Given the description of an element on the screen output the (x, y) to click on. 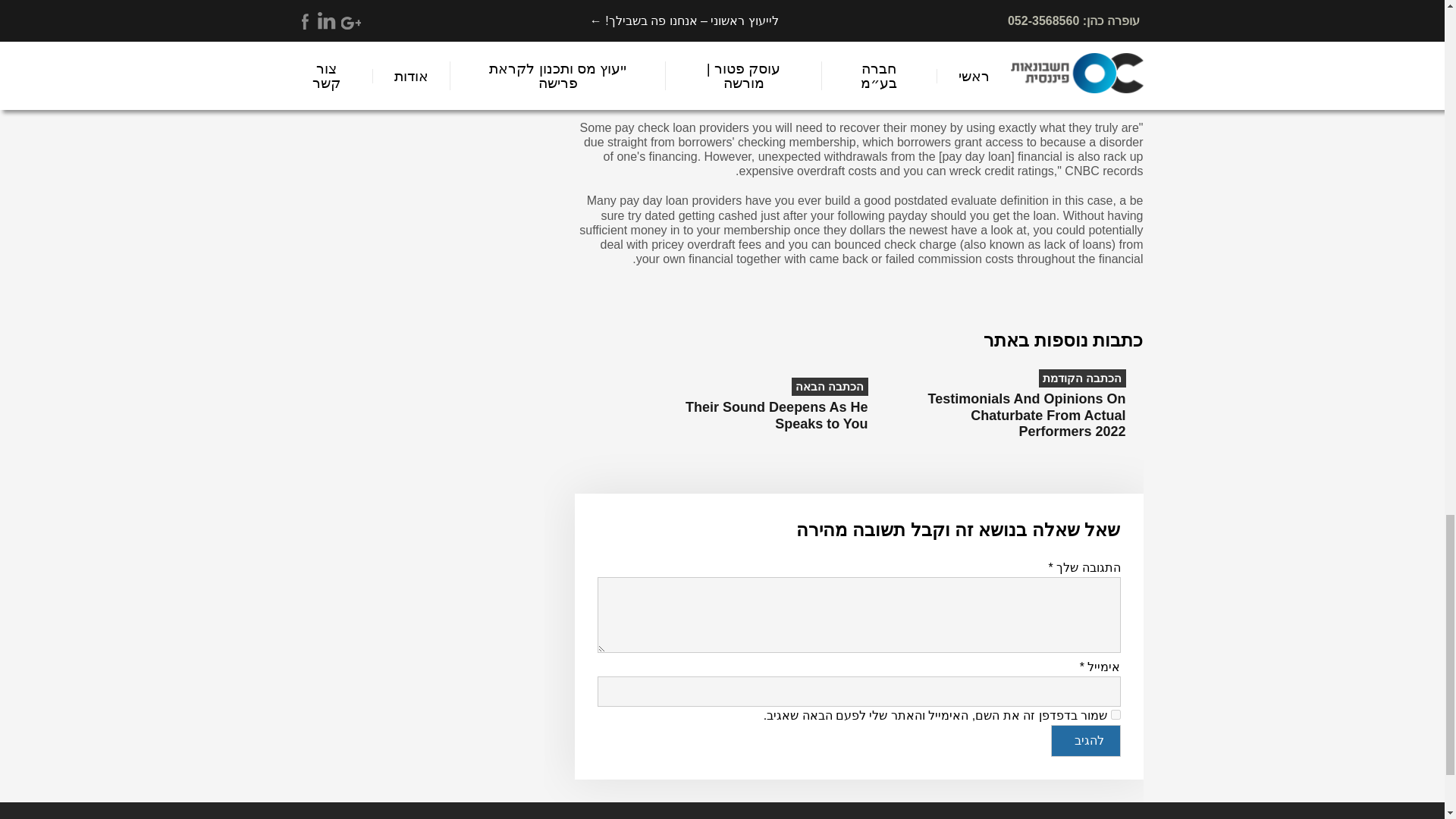
yes (1114, 714)
payday loans Wisconsin Baldwin (1030, 97)
